Given the description of an element on the screen output the (x, y) to click on. 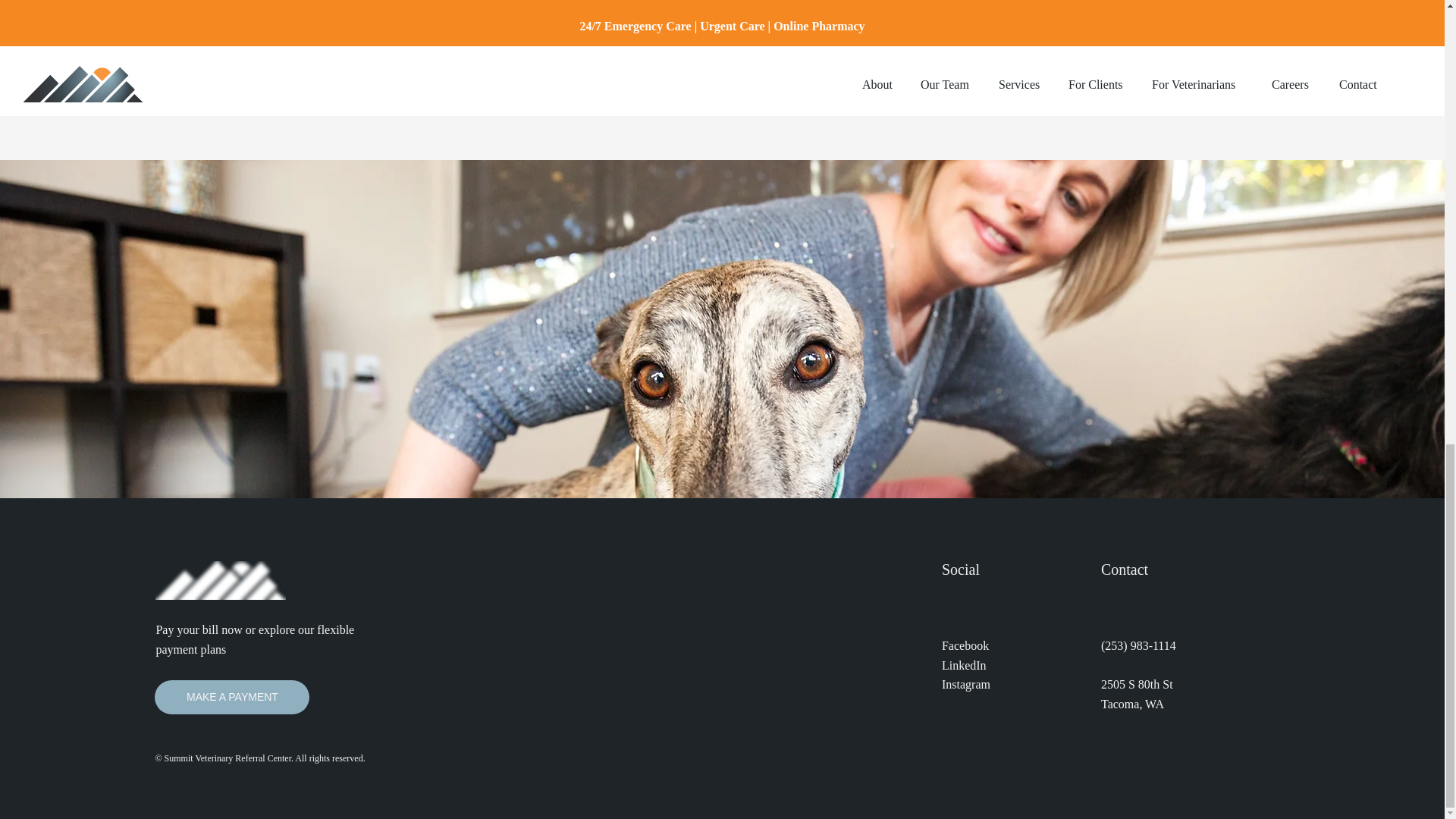
Instagram (966, 684)
Facebook (965, 645)
LinkedIn (964, 665)
MAKE A PAYMENT (231, 697)
